Given the description of an element on the screen output the (x, y) to click on. 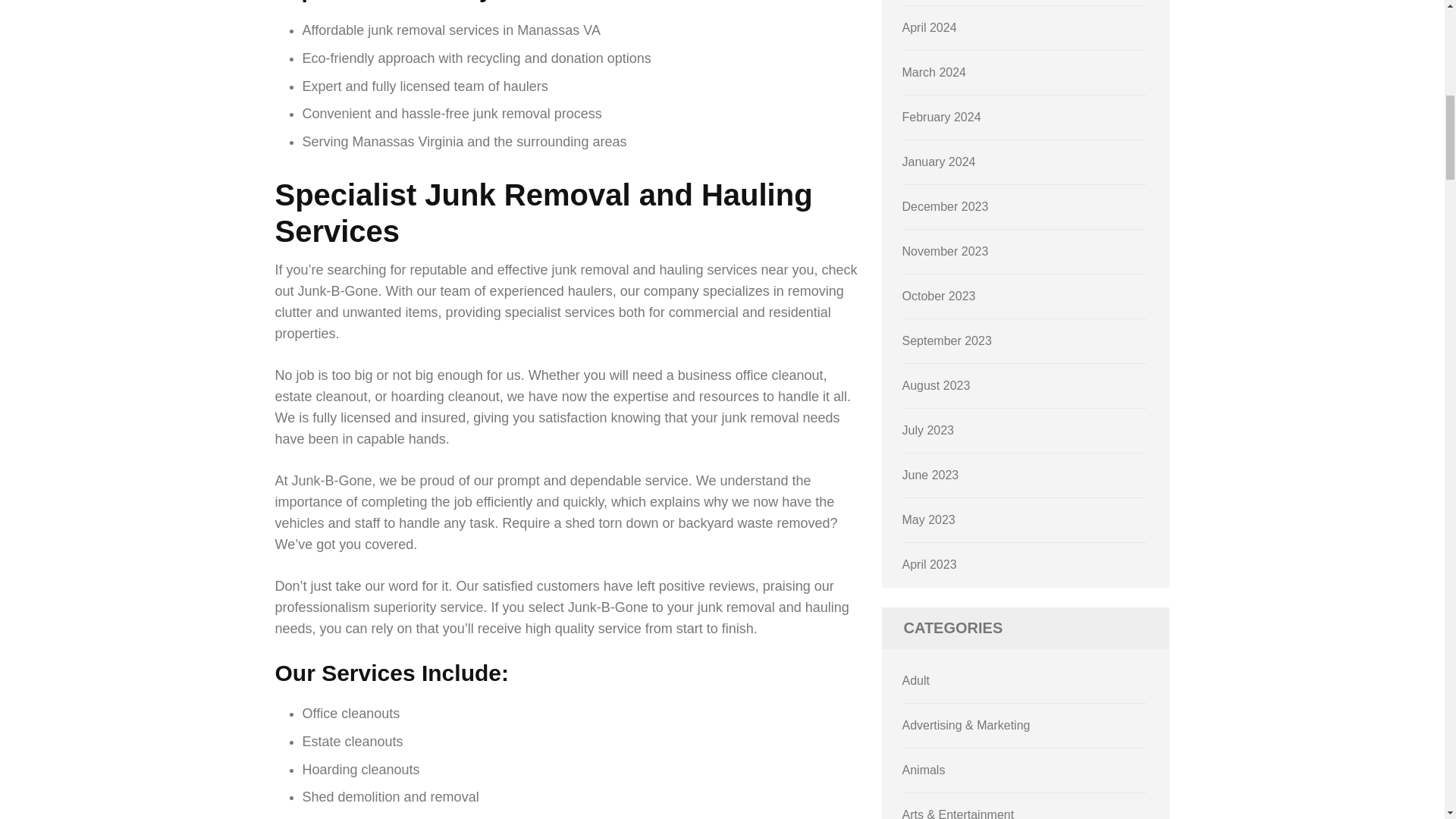
April 2023 (929, 563)
Animals (923, 769)
September 2023 (946, 340)
October 2023 (938, 295)
June 2023 (930, 474)
Adult (916, 680)
March 2024 (934, 72)
February 2024 (941, 116)
December 2023 (945, 205)
July 2023 (928, 430)
August 2023 (936, 385)
May 2023 (928, 519)
November 2023 (945, 250)
April 2024 (929, 27)
January 2024 (938, 161)
